Given the description of an element on the screen output the (x, y) to click on. 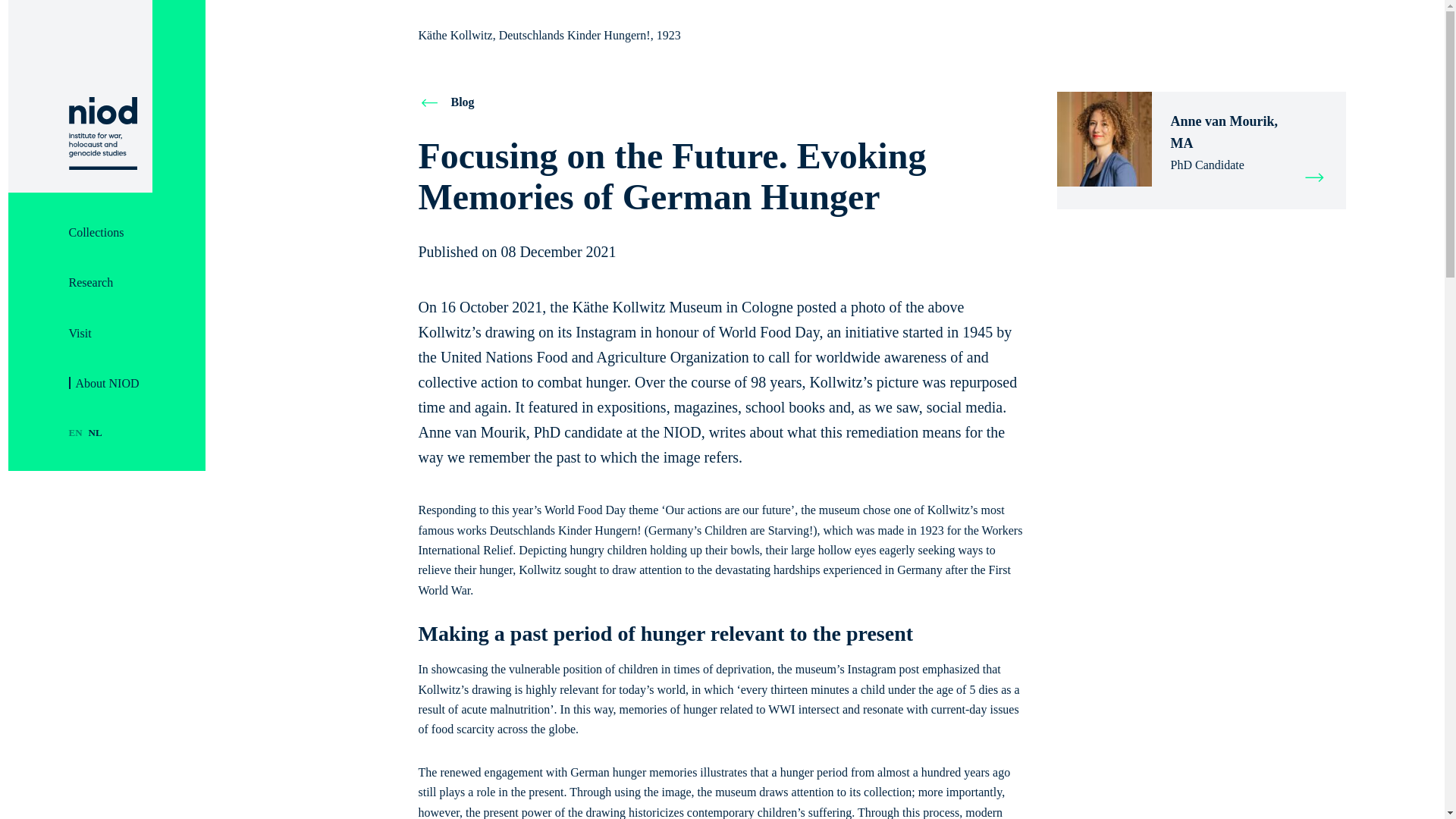
Research (90, 282)
Collections (95, 232)
Visit (79, 333)
About NIOD (103, 383)
